Given the description of an element on the screen output the (x, y) to click on. 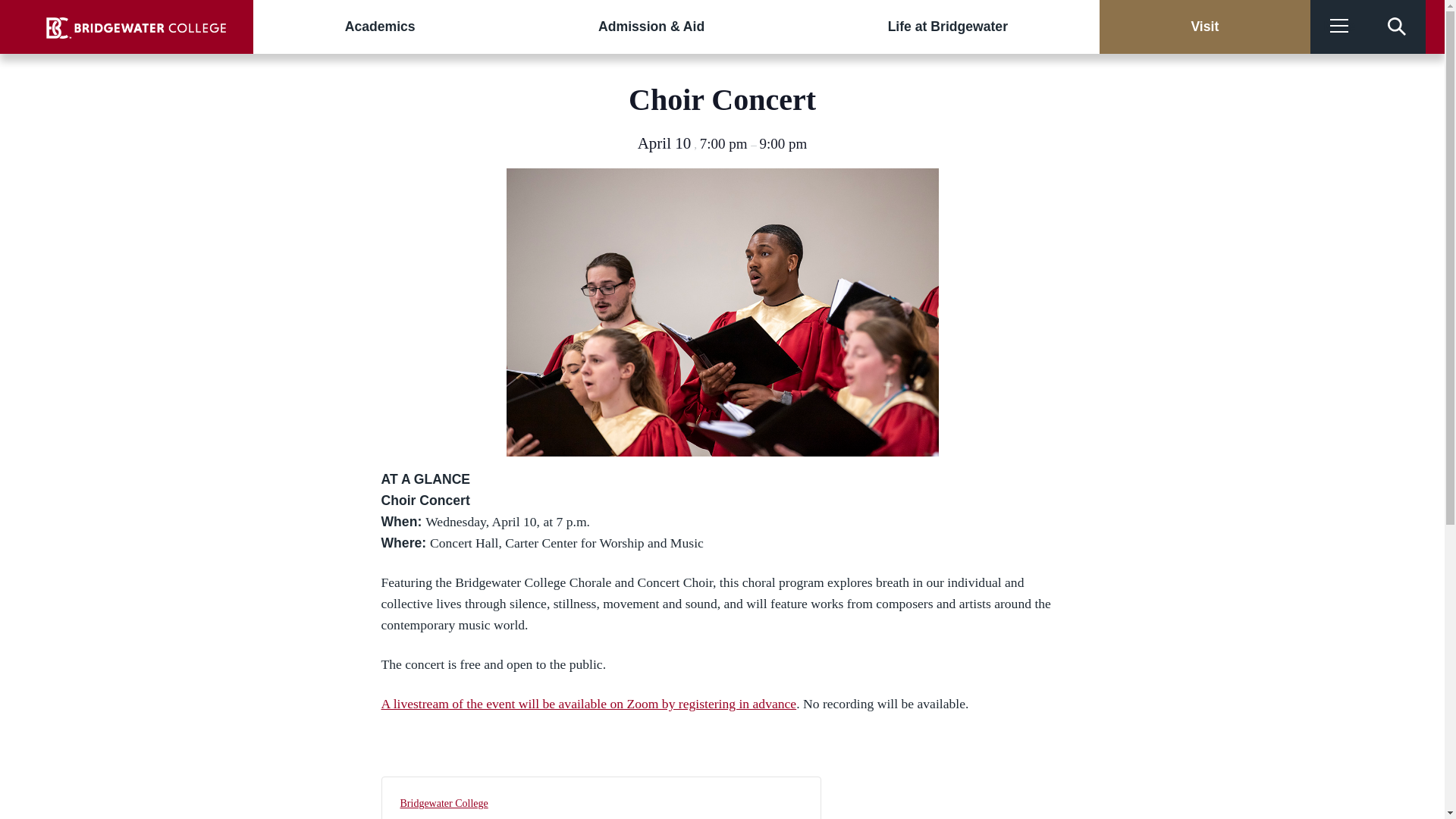
More (1339, 27)
Life at Bridgewater (947, 27)
Academics (379, 27)
Visit (1204, 27)
Bridgewater College (443, 803)
More (1339, 27)
Visit (1204, 27)
Life at Bridgewater (947, 27)
Academics (379, 27)
